Given the description of an element on the screen output the (x, y) to click on. 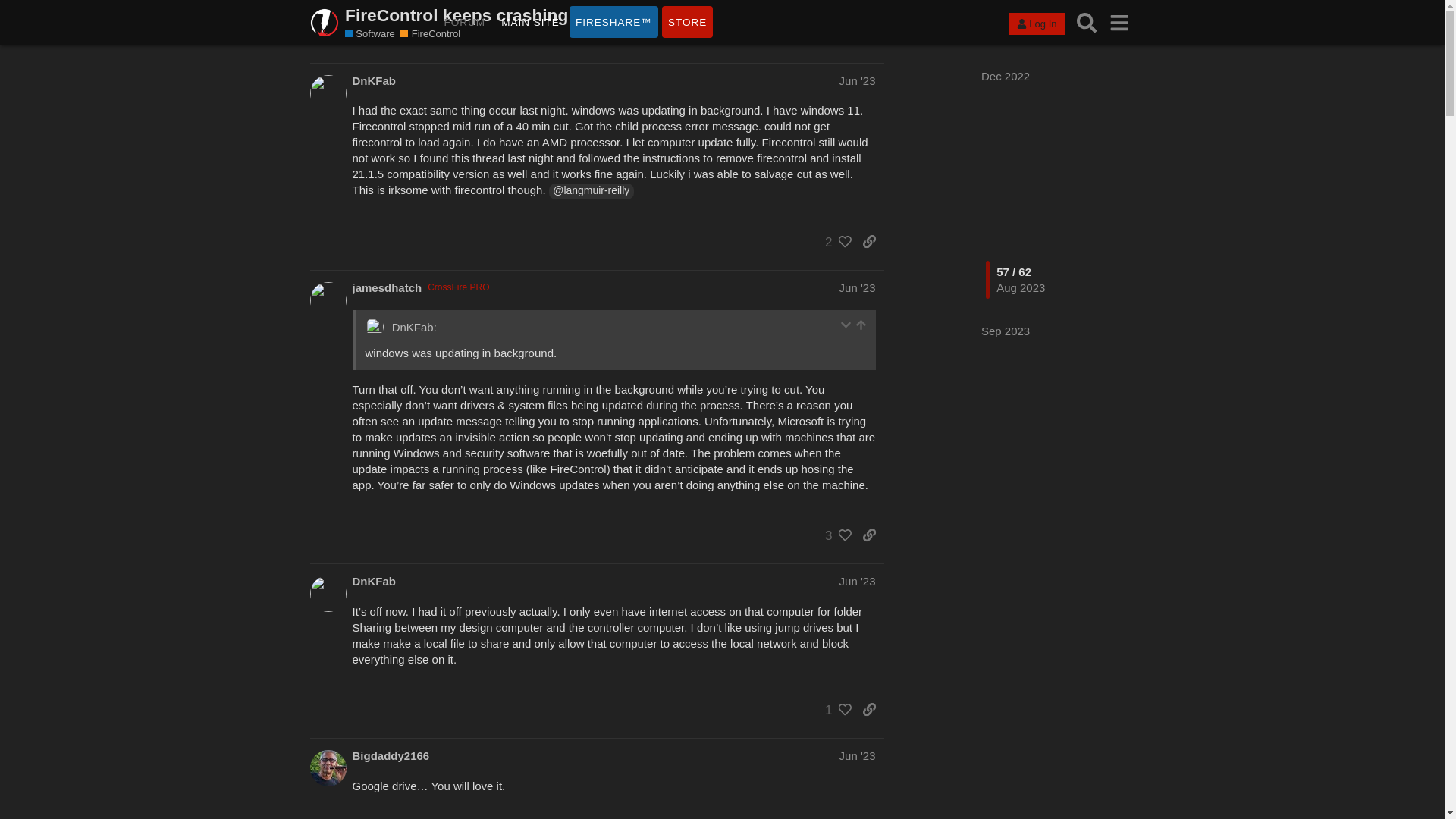
Dec 2022 (1005, 75)
Jun '23 (858, 755)
2 people liked this post (833, 241)
Post date (858, 80)
go to the quoted post (861, 324)
Search (1086, 22)
2 (833, 241)
Log In (1036, 24)
menu (1119, 22)
